Given the description of an element on the screen output the (x, y) to click on. 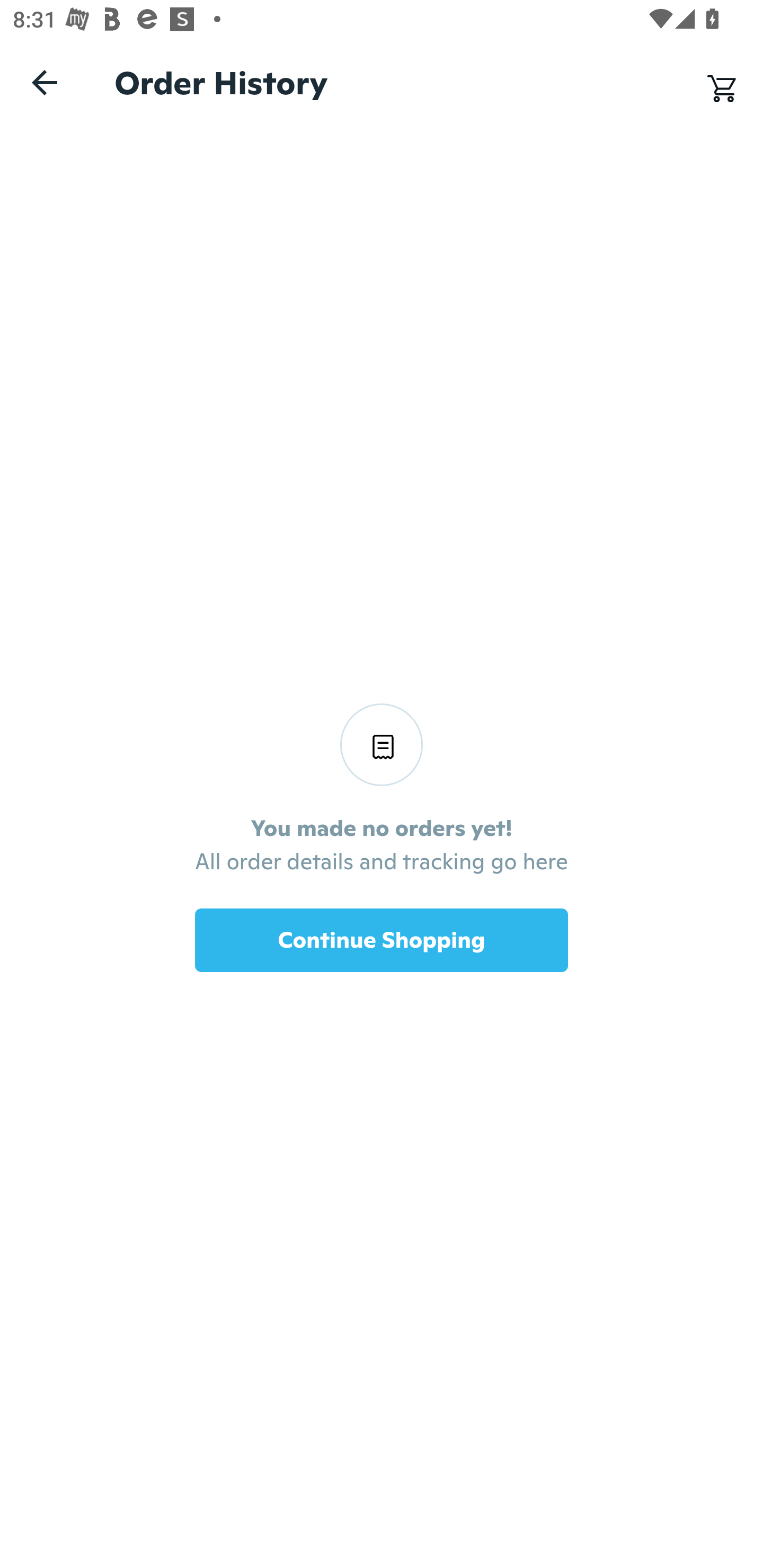
Navigate up (44, 82)
